Given the description of an element on the screen output the (x, y) to click on. 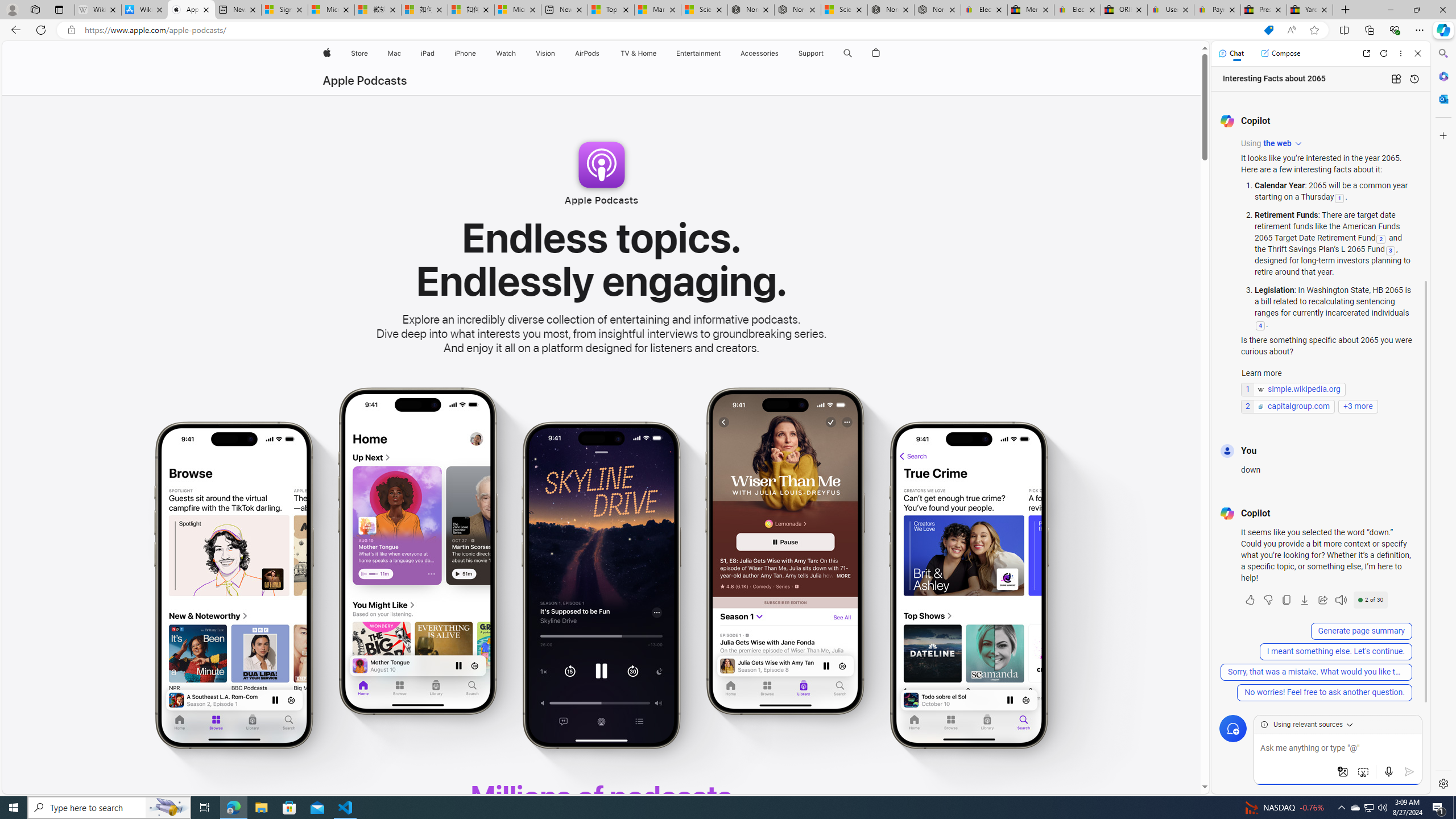
Mac (394, 53)
Accessories (759, 53)
Marine life - MSN (656, 9)
Open link in new tab (1366, 53)
Sign in to your Microsoft account (284, 9)
Payments Terms of Use | eBay.com (1216, 9)
Entertainment (698, 53)
iPhone menu (477, 53)
Electronics, Cars, Fashion, Collectibles & More | eBay (1077, 9)
AirPods (587, 53)
Entertainment (698, 53)
User Privacy Notice | eBay (1170, 9)
